Given the description of an element on the screen output the (x, y) to click on. 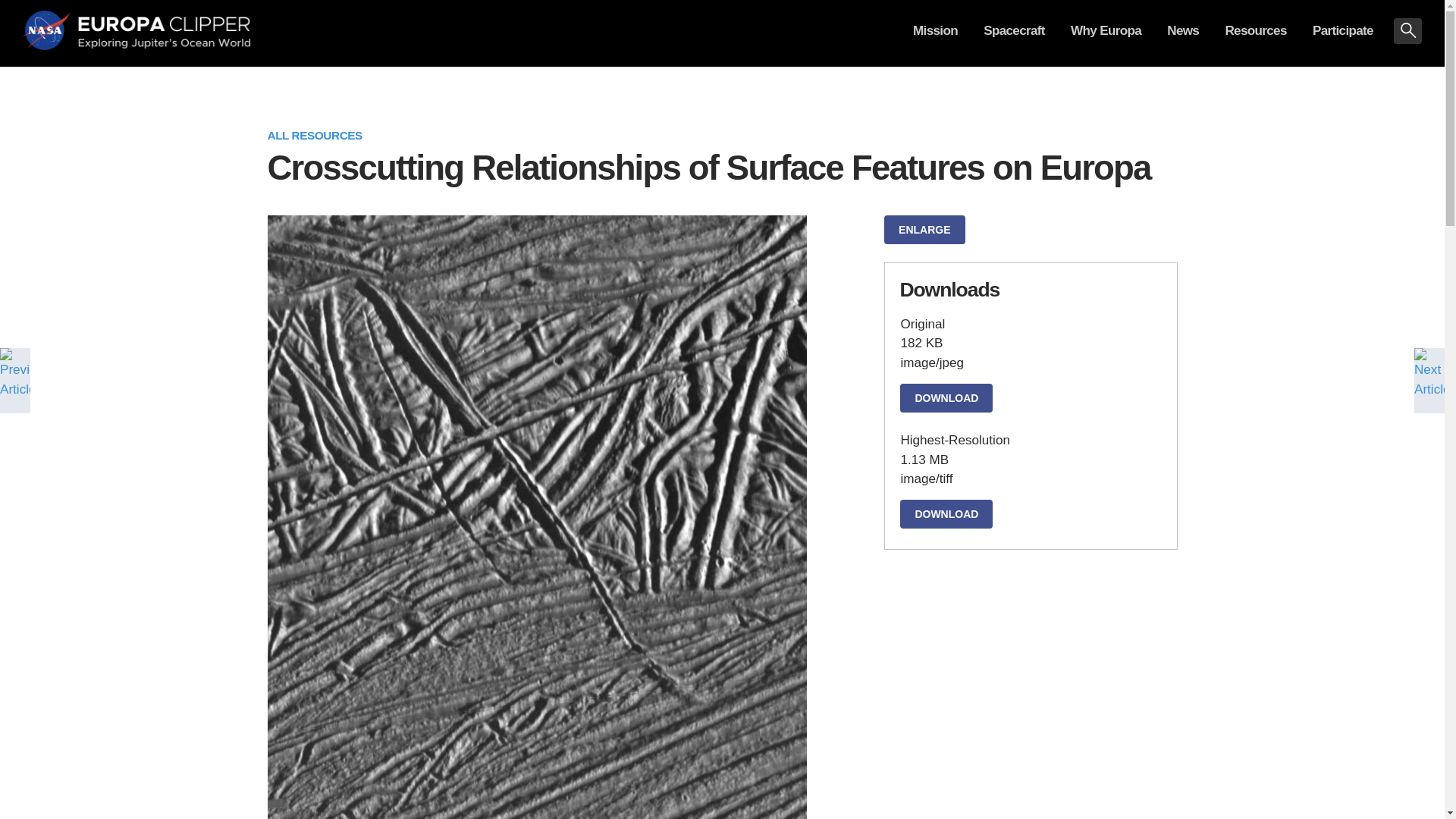
Mission (935, 40)
visit nasa.gov (47, 33)
Why Europa (1106, 40)
Europa Clipper (161, 33)
Spacecraft (1014, 40)
Home (161, 33)
News (1182, 40)
NASA (47, 33)
